Given the description of an element on the screen output the (x, y) to click on. 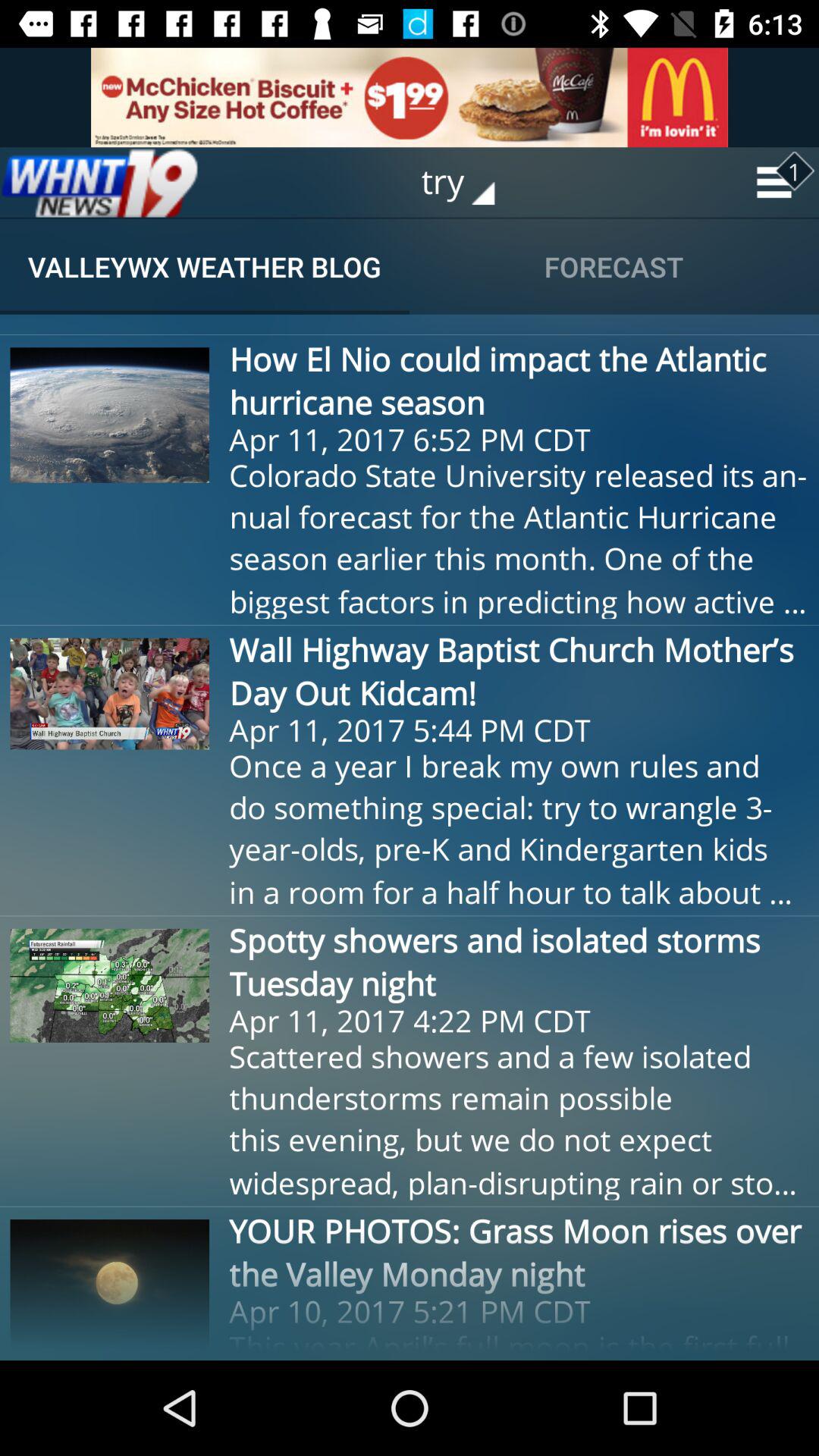
go to home (99, 182)
